Given the description of an element on the screen output the (x, y) to click on. 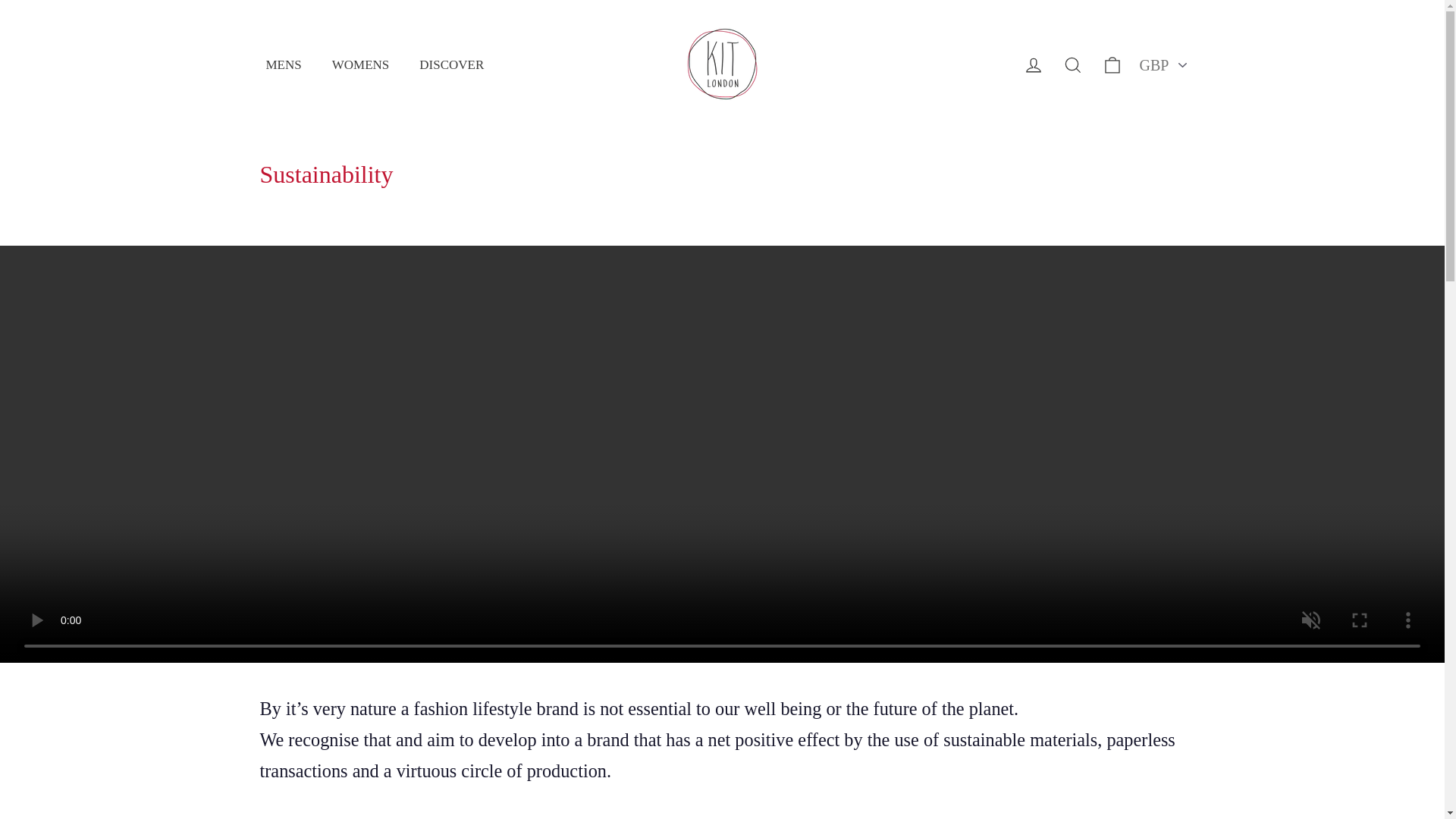
MENS (282, 64)
DISCOVER (451, 64)
WOMENS (360, 64)
